Given the description of an element on the screen output the (x, y) to click on. 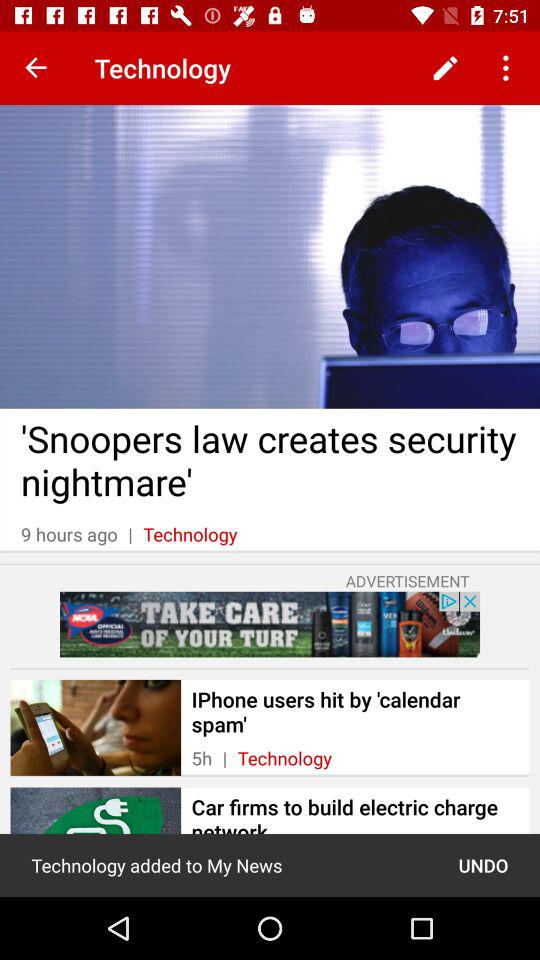
go back to previous page (36, 68)
